Given the description of an element on the screen output the (x, y) to click on. 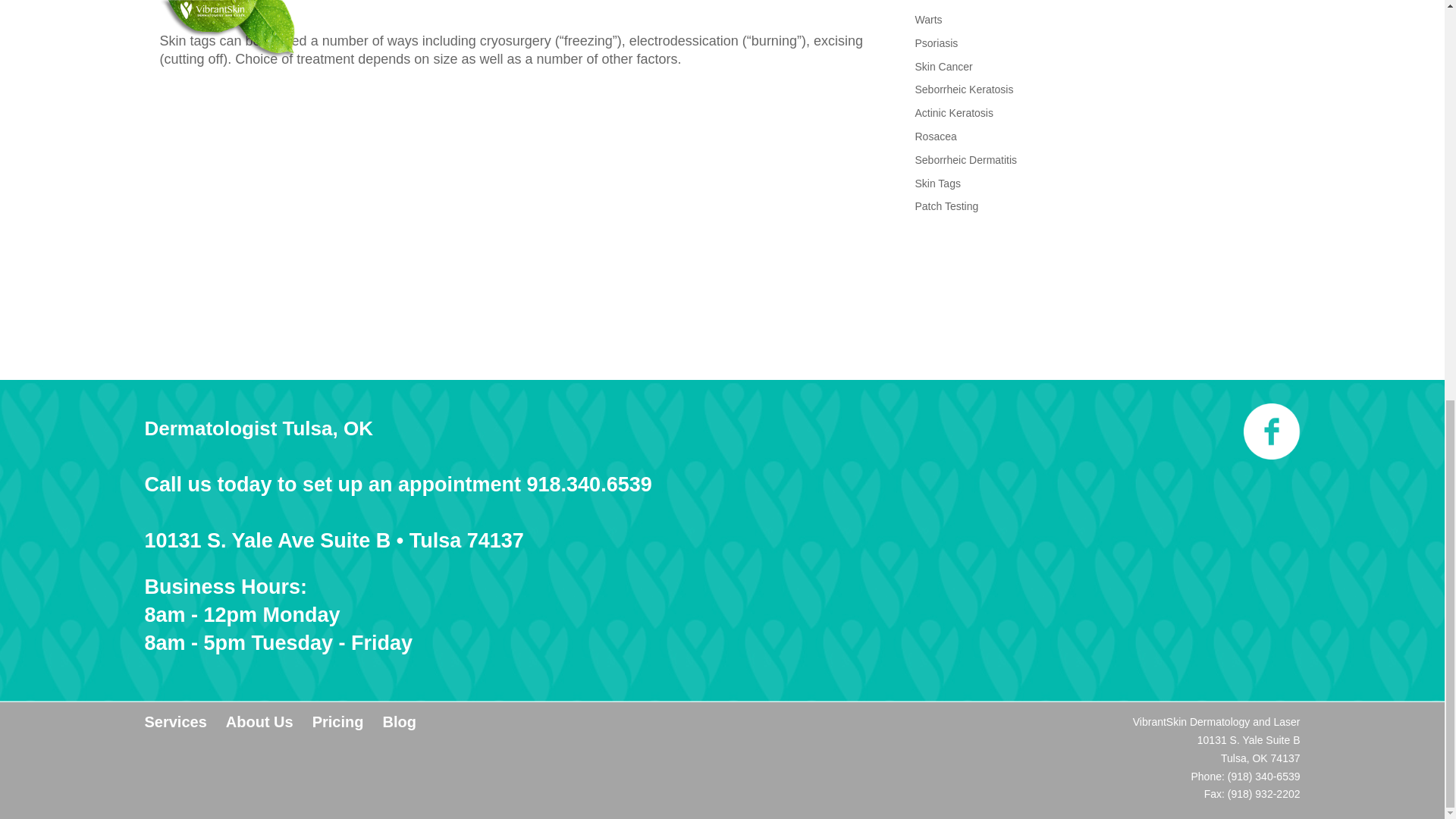
Rosacea (935, 136)
Moles (928, 1)
Patch Testing (946, 205)
Blog (397, 721)
Actinic Keratosis (953, 112)
Warts (928, 19)
Services (175, 721)
Skin Tags (936, 183)
Pricing (338, 721)
About Us (259, 721)
Psoriasis (936, 42)
Seborrheic Keratosis (963, 89)
Skin Cancer (943, 66)
Seborrheic Dermatitis (965, 159)
